Given the description of an element on the screen output the (x, y) to click on. 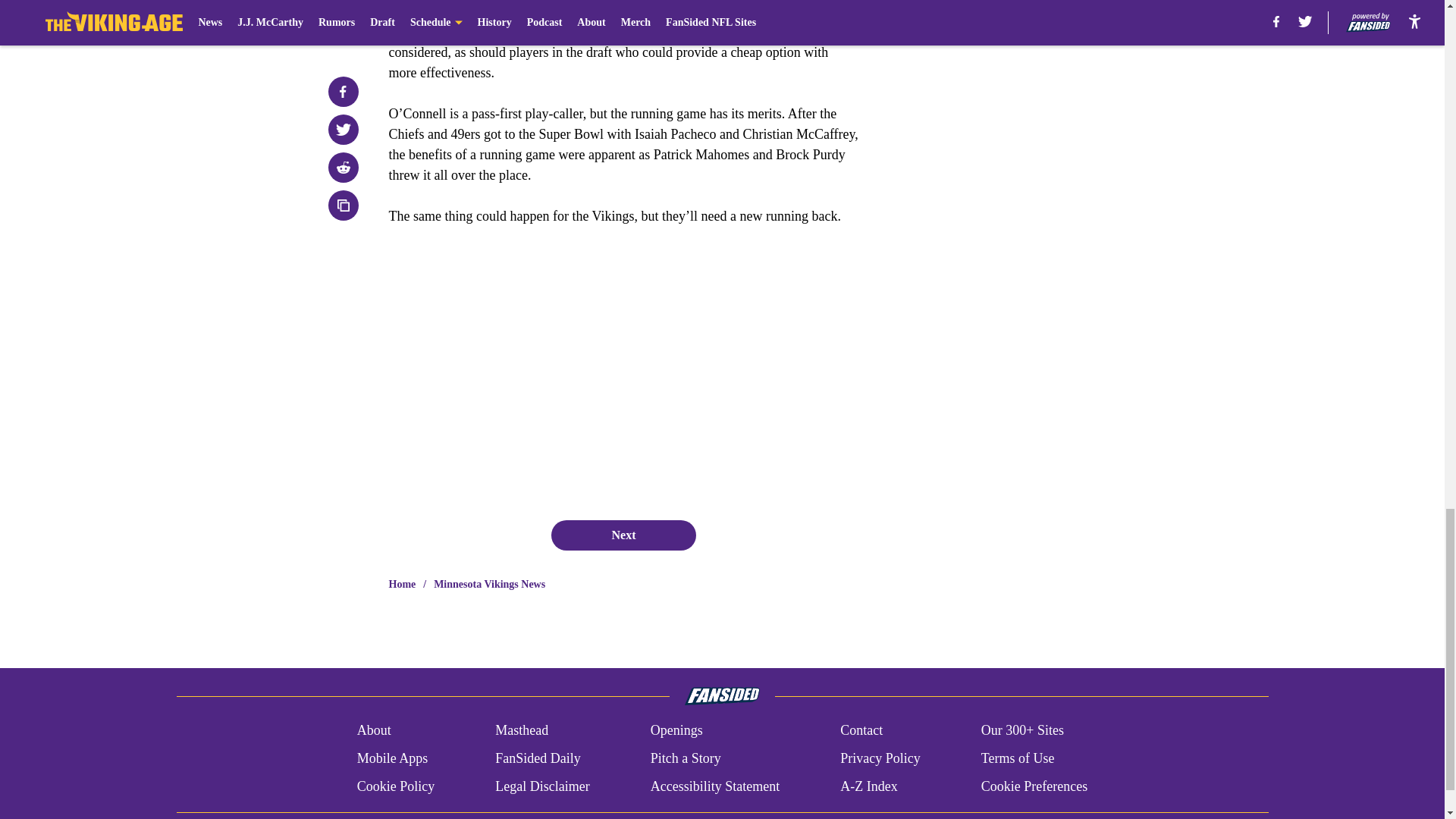
Next (622, 535)
About (373, 730)
Openings (676, 730)
Home (401, 584)
Minnesota Vikings News (488, 584)
Mobile Apps (392, 758)
Masthead (521, 730)
Contact (861, 730)
